Given the description of an element on the screen output the (x, y) to click on. 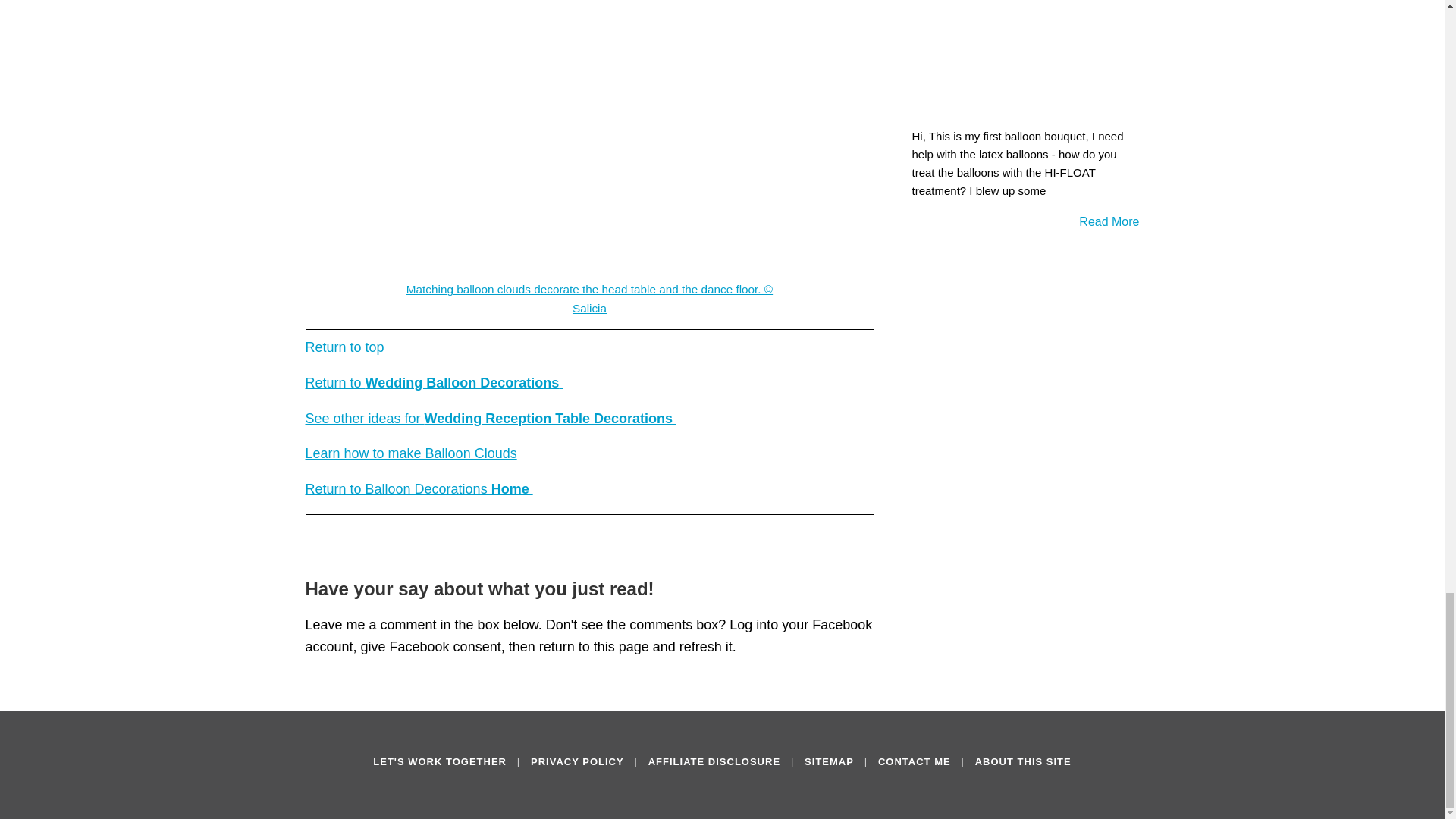
Head table decoration with balloon clouds (589, 136)
